Given the description of an element on the screen output the (x, y) to click on. 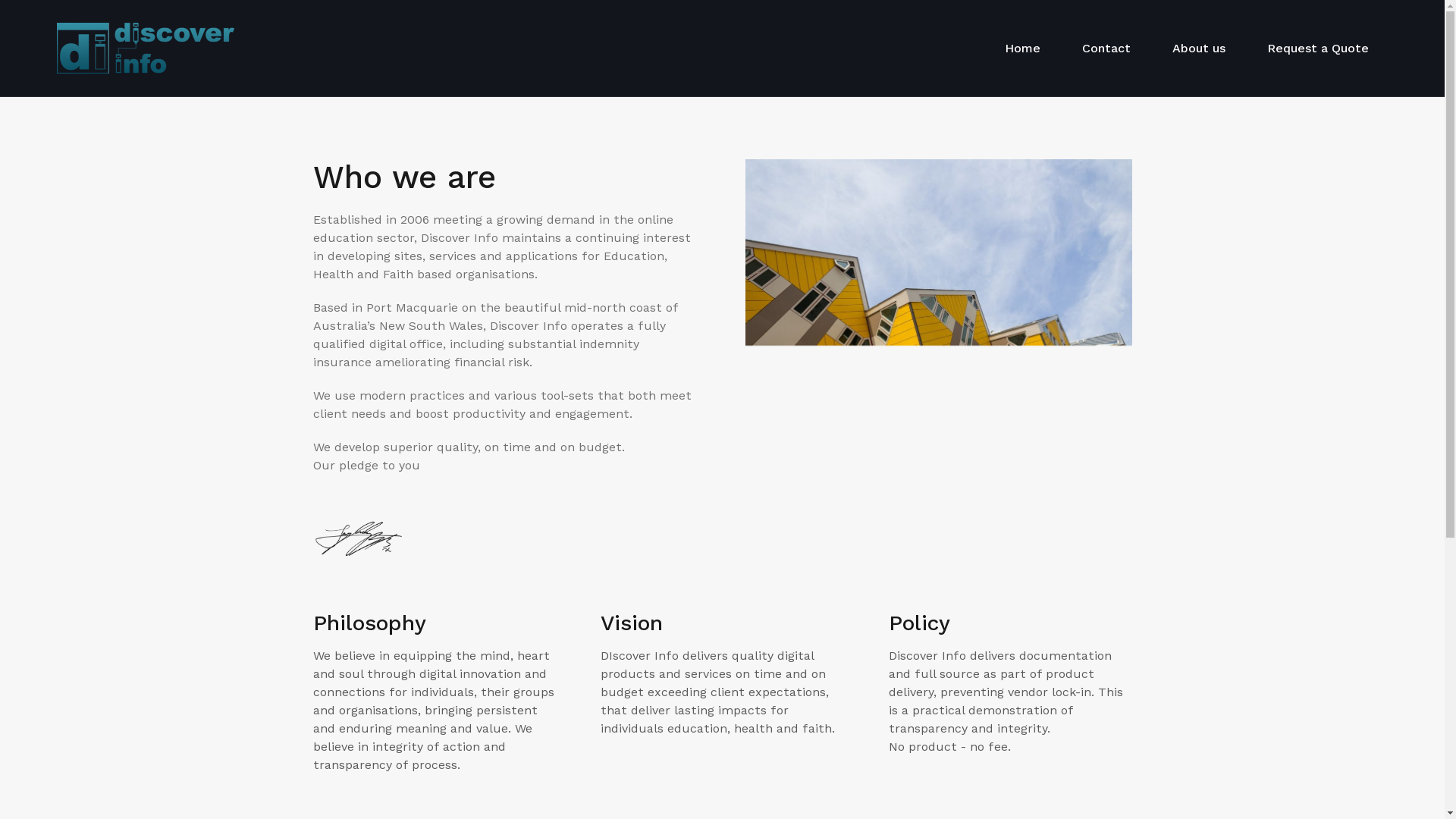
Home Element type: text (1022, 48)
About us Element type: text (1198, 48)
Contact Element type: text (1106, 48)
Request a Quote Element type: text (1317, 48)
